Given the description of an element on the screen output the (x, y) to click on. 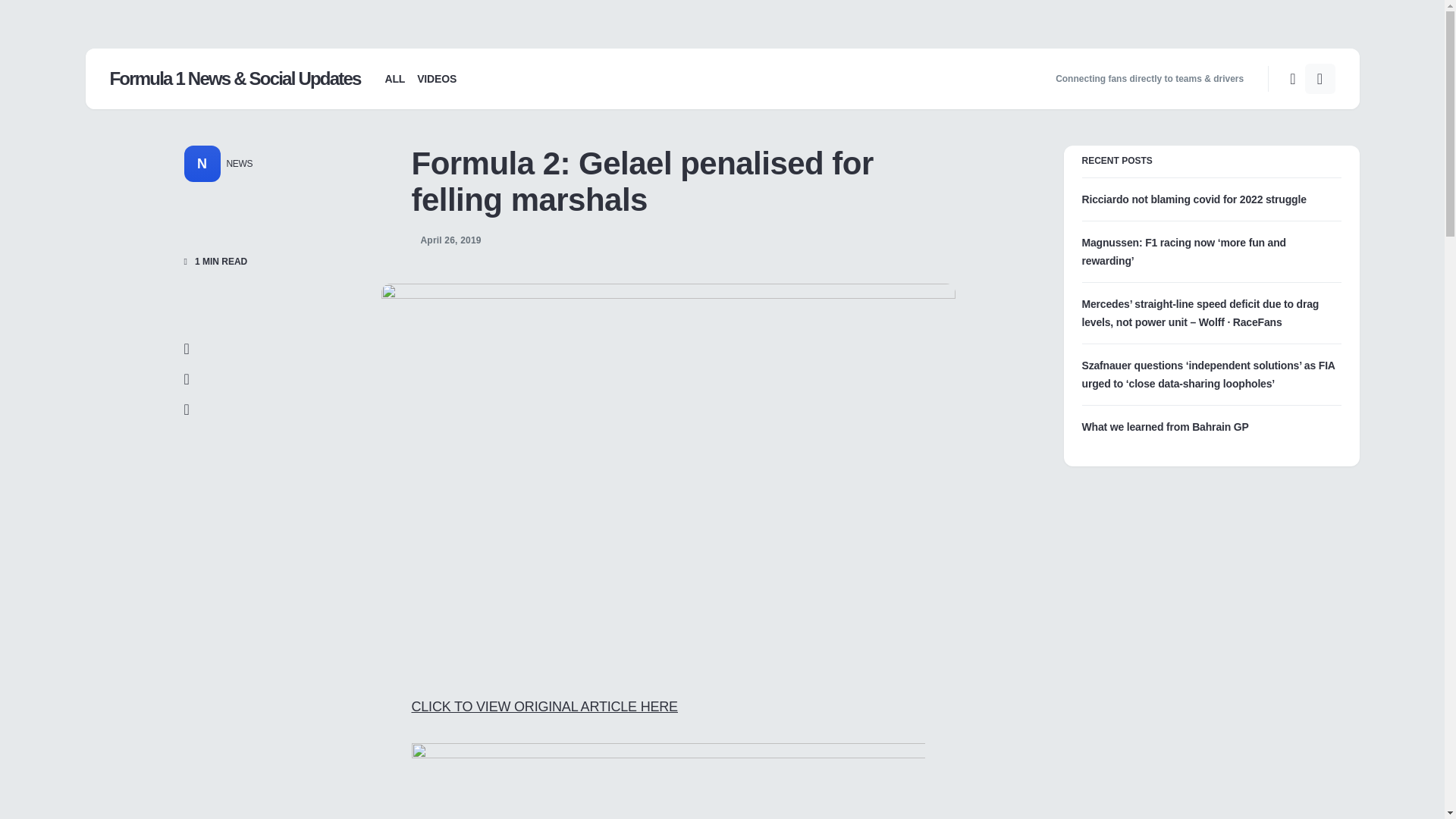
N (201, 163)
CLICK TO VIEW ORIGINAL ARTICLE HERE (543, 706)
What we learned from Bahrain GP (1164, 426)
NEWS (235, 163)
Ricciardo not blaming covid for 2022 struggle (1193, 199)
